Given the description of an element on the screen output the (x, y) to click on. 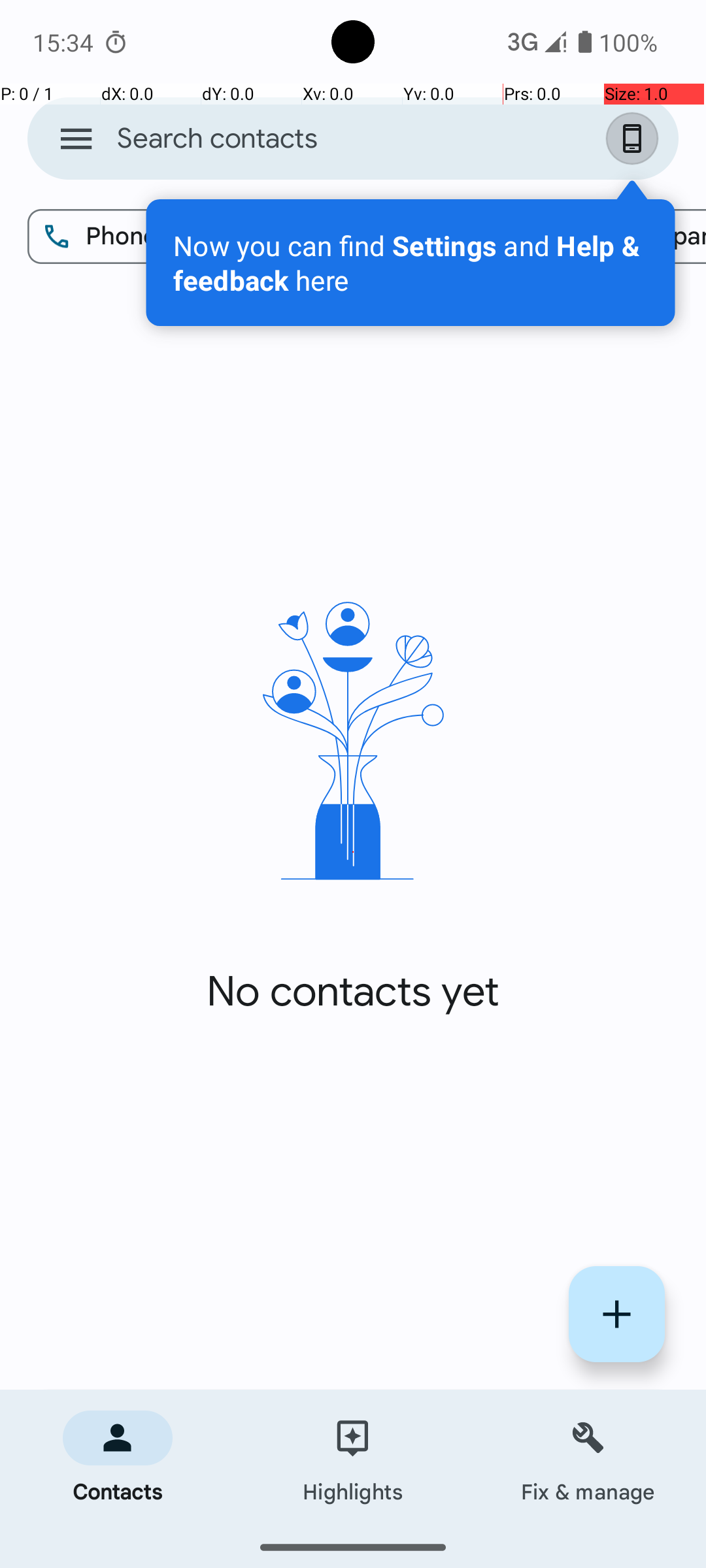
Create contact Element type: android.widget.ImageButton (616, 1314)
Contacts Element type: android.widget.FrameLayout (117, 1457)
Highlights Element type: android.widget.FrameLayout (352, 1457)
Fix & manage Element type: android.widget.FrameLayout (588, 1457)
Open navigation drawer Element type: android.widget.ImageButton (75, 138)
Signed in as Device
Account and settings. Element type: android.widget.FrameLayout (634, 138)
No contacts yet Element type: android.widget.TextView (353, 991)
Phone contacts Element type: android.widget.Button (157, 236)
Email contacts Element type: android.widget.Button (425, 236)
Company Element type: android.widget.Button (634, 236)
Now you can find Settings and Help & feedback here
Open account and settings. Element type: android.view.ViewGroup (409, 262)
Now you can find Settings and Help & feedback here Element type: android.widget.TextView (410, 262)
